Given the description of an element on the screen output the (x, y) to click on. 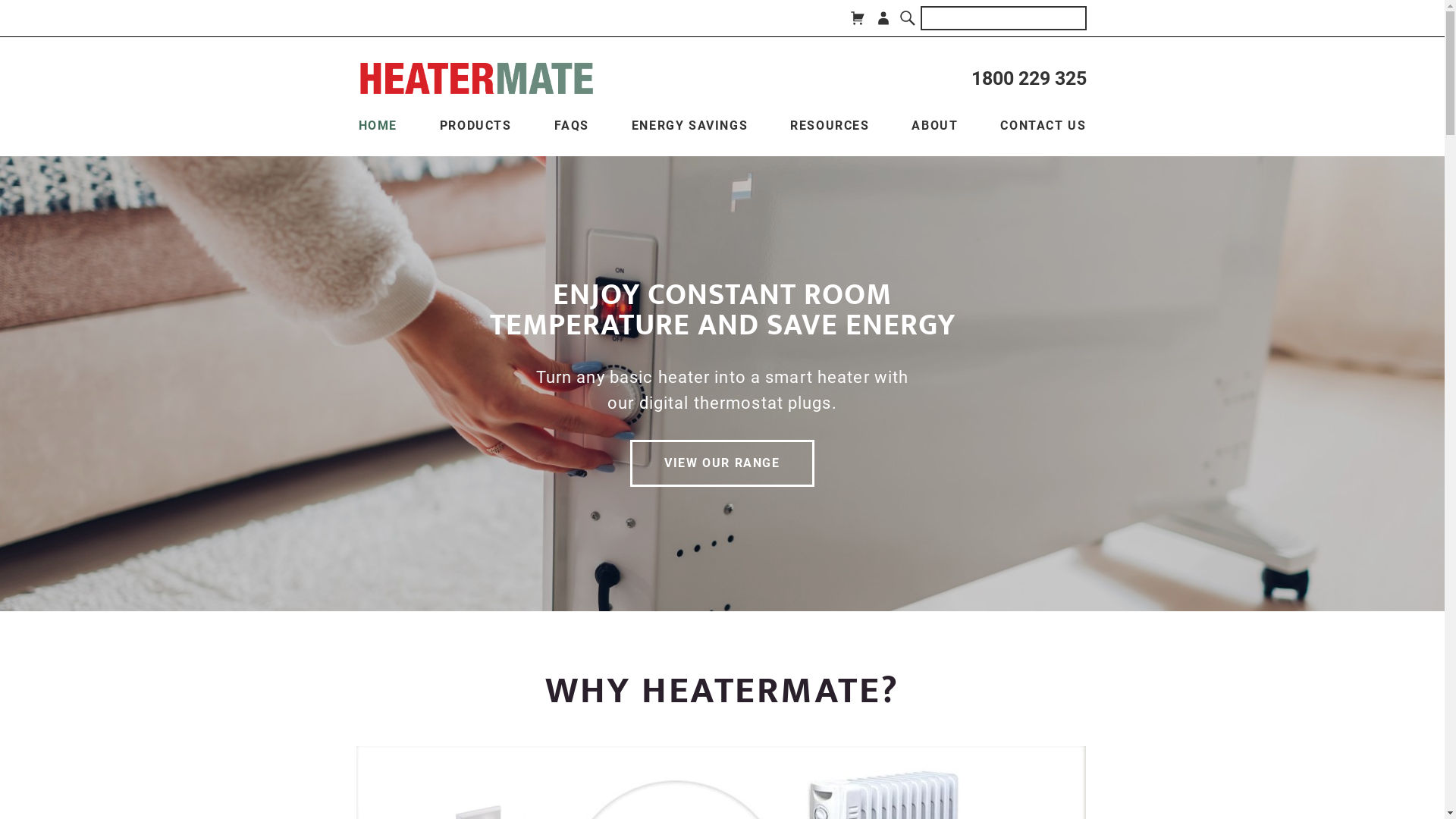
VIEW OUR RANGE Element type: text (721, 462)
PRODUCTS Element type: text (475, 125)
ABOUT Element type: text (934, 125)
1800 229 325 Element type: text (1027, 78)
Search Element type: hover (908, 18)
ENERGY SAVINGS Element type: text (689, 125)
FAQS Element type: text (571, 125)
RESOURCES Element type: text (829, 125)
HOME Element type: text (376, 125)
CONTACT US Element type: text (1042, 125)
